Given the description of an element on the screen output the (x, y) to click on. 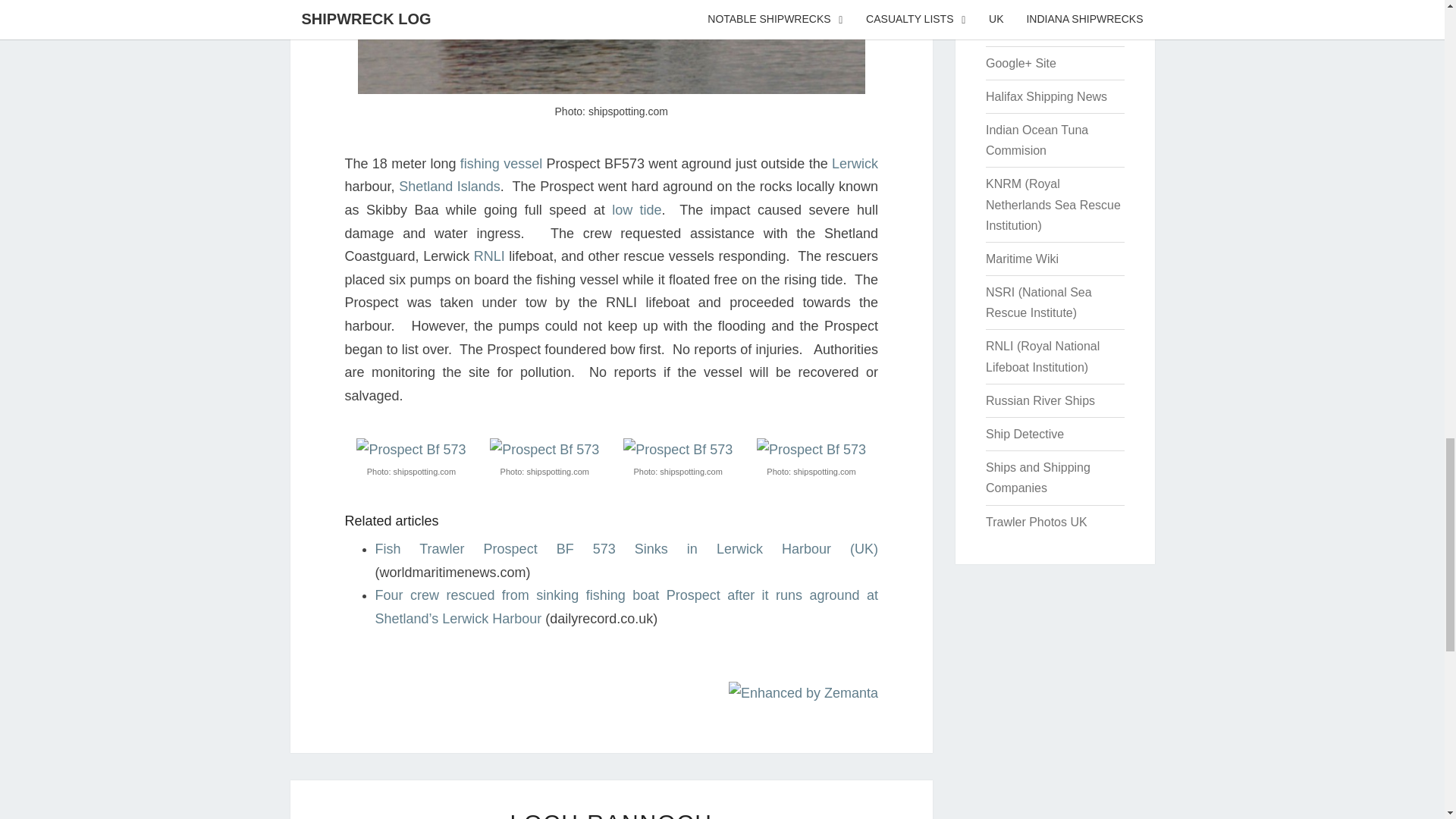
Tide (636, 209)
Lerwick (854, 163)
Royal National Lifeboat Institution (489, 255)
Shetland (449, 186)
Fishing vessel (500, 163)
fishing vessel (500, 163)
